Given the description of an element on the screen output the (x, y) to click on. 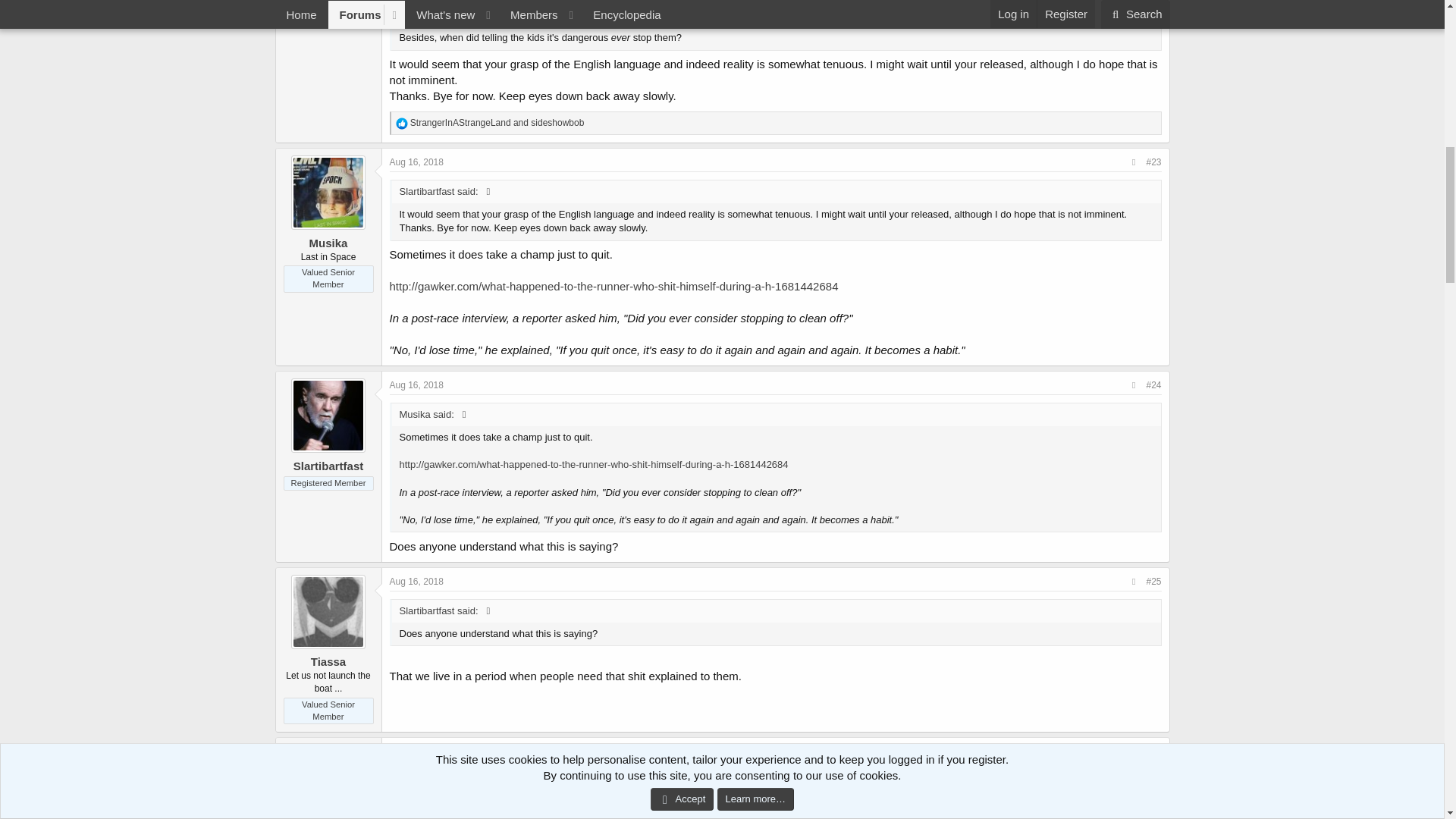
Aug 16, 2018 at 10:32 AM (417, 162)
Aug 16, 2018 at 3:20 PM (417, 581)
Aug 16, 2018 at 12:01 PM (417, 385)
Aug 16, 2018 at 3:24 PM (417, 751)
Like (401, 123)
